Given the description of an element on the screen output the (x, y) to click on. 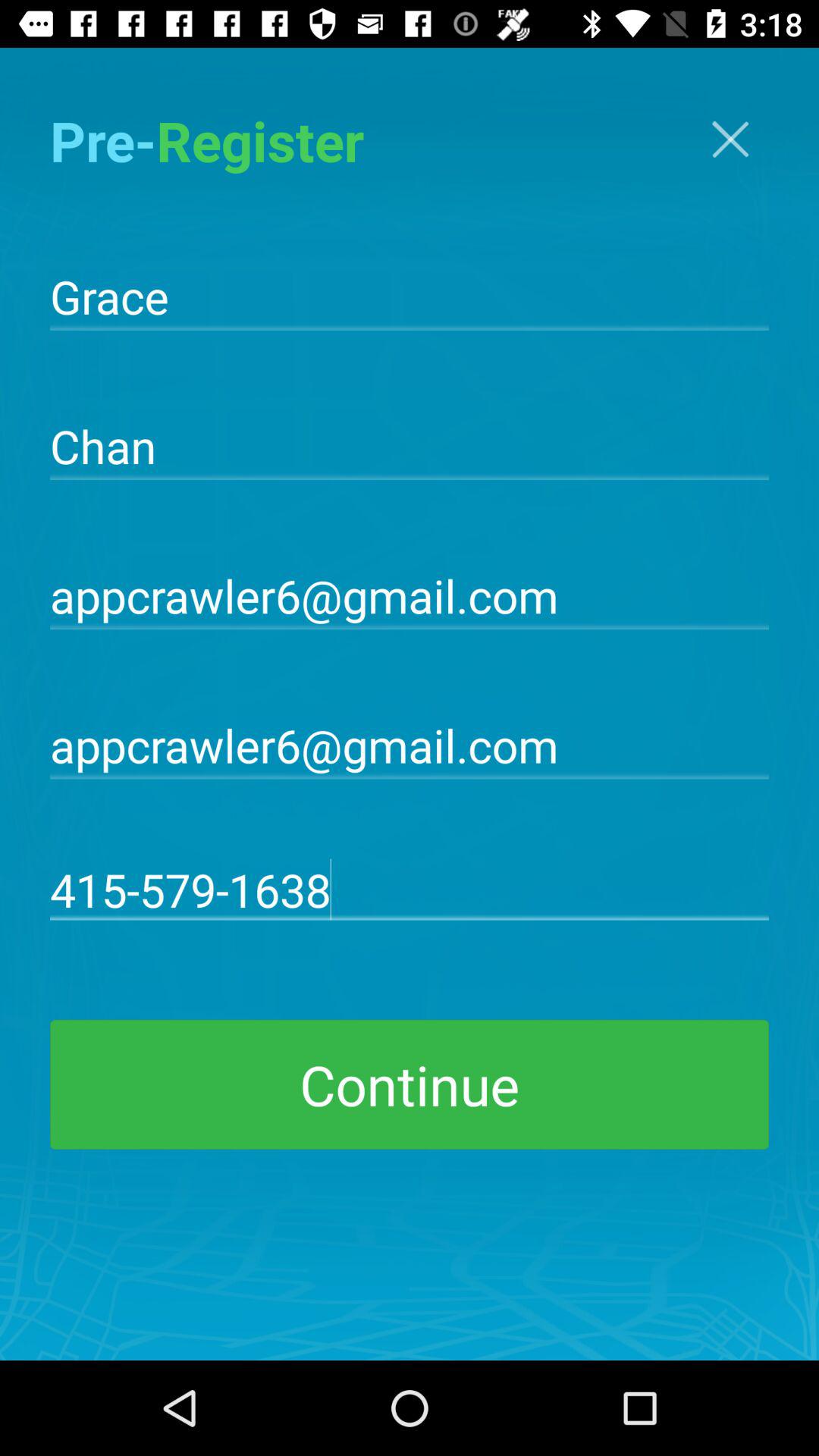
tap continue item (409, 1084)
